Given the description of an element on the screen output the (x, y) to click on. 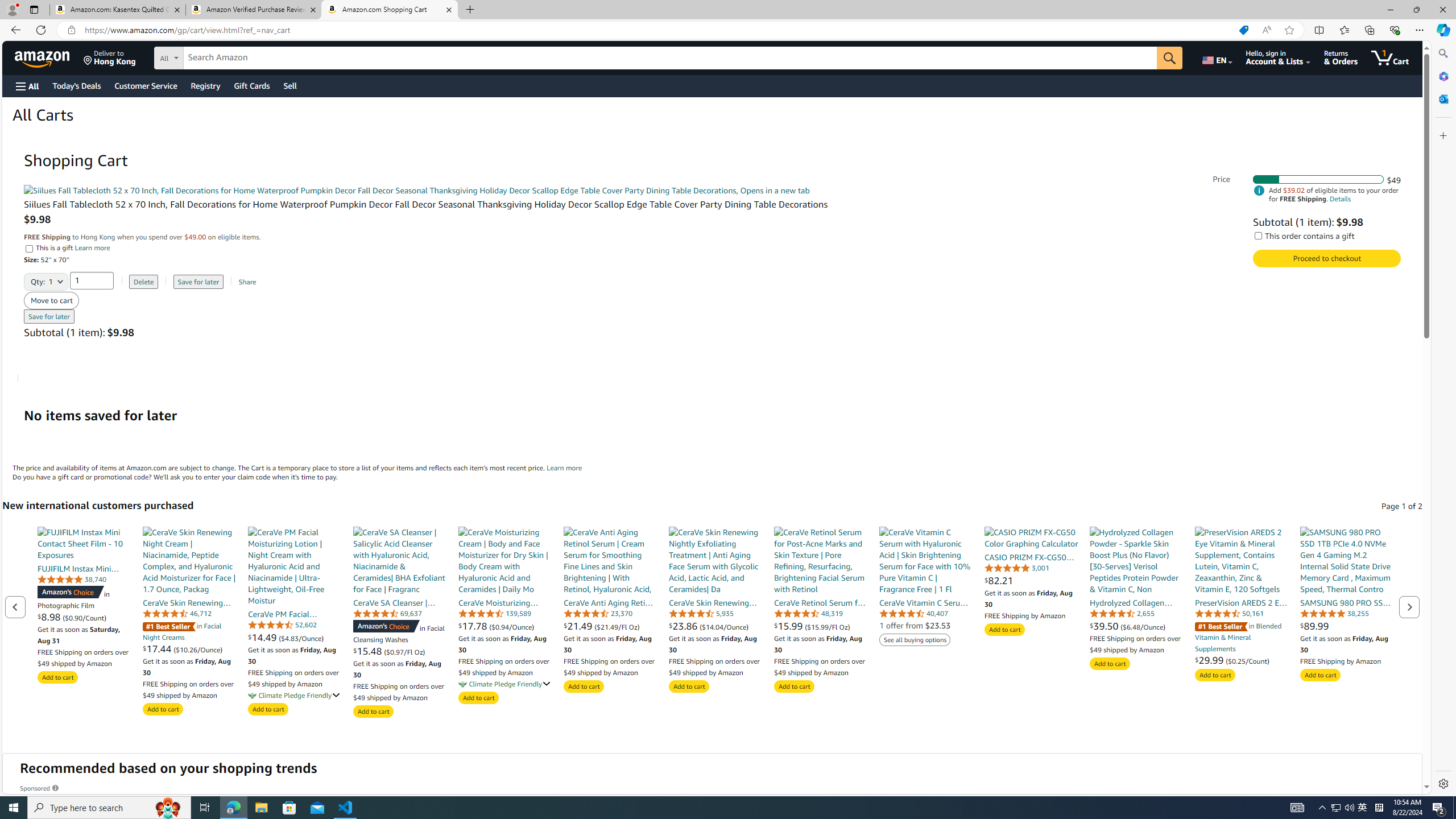
($6.48/Ounce) (1143, 626)
$39.50  (1105, 625)
Search Amazon (670, 57)
Leave feedback on Sponsored ad (39, 787)
Next page (1409, 606)
Qty: Quantity (45, 277)
